Given the description of an element on the screen output the (x, y) to click on. 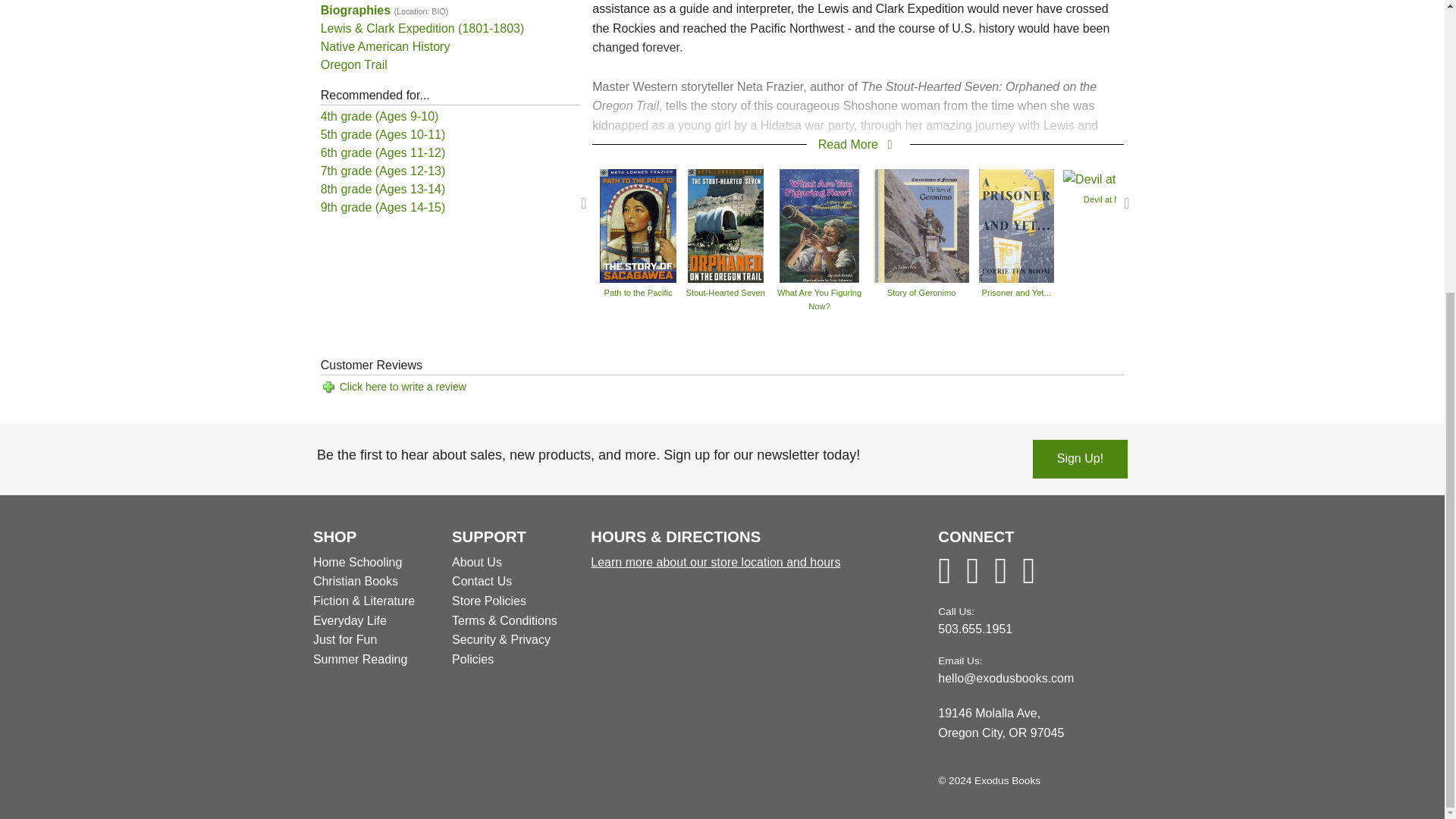
Stout-Hearted Seven (724, 224)
Self-Portrait: Margot Zemach (1262, 178)
Read More (858, 144)
Path to the Pacific (638, 224)
Devil at My Heels (1115, 178)
What Are You Figuring Now? (818, 224)
Prisoner and Yet... (1016, 224)
Story of Geronimo (921, 224)
